Given the description of an element on the screen output the (x, y) to click on. 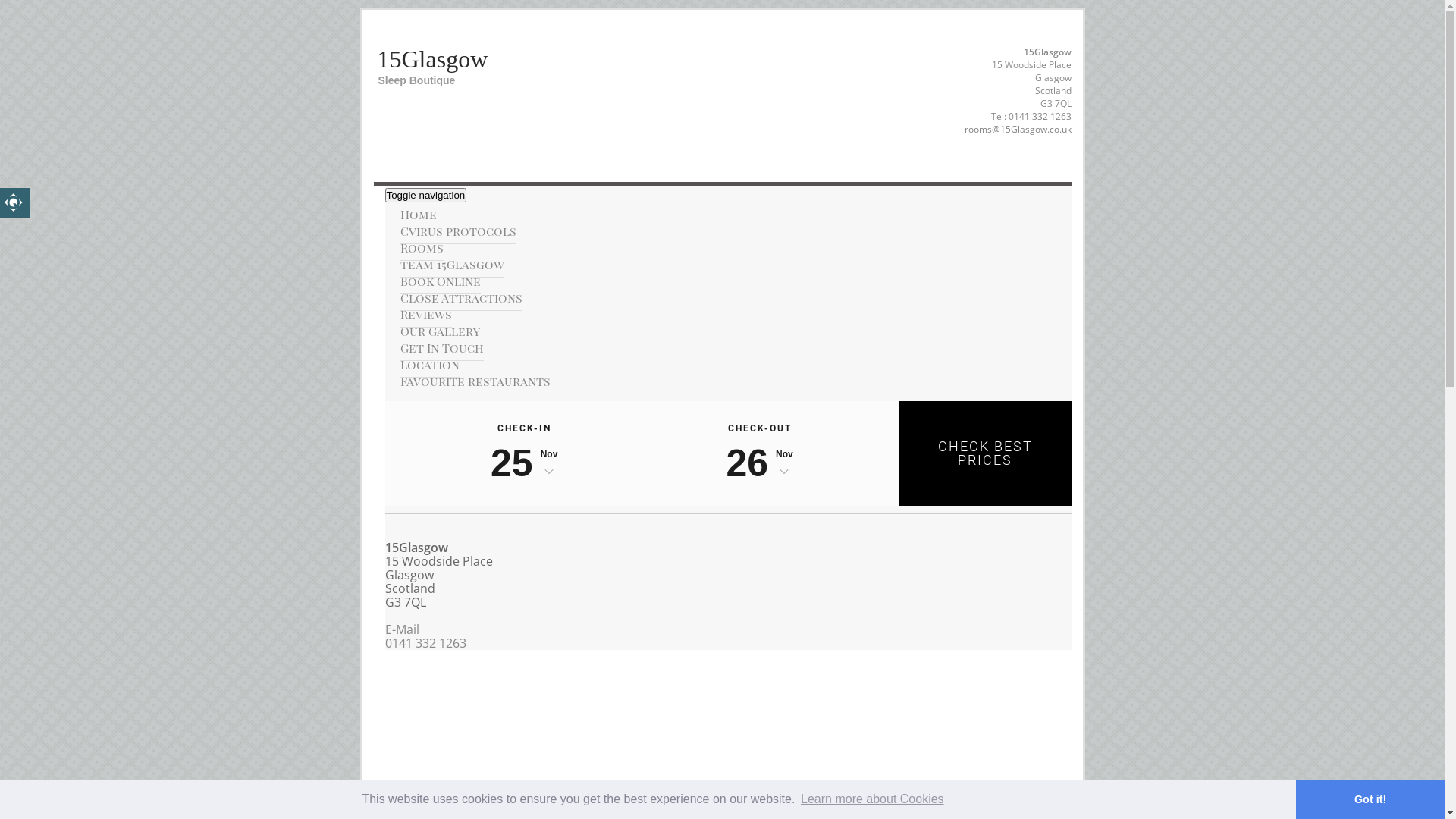
Learn more about Cookies Element type: text (872, 798)
Location Element type: text (429, 364)
CHECK BEST PRICES Element type: text (984, 453)
Reviews Element type: text (425, 314)
Book Online Element type: text (440, 281)
Toggle navigation Element type: text (426, 195)
0141 332 1263 Element type: text (1039, 115)
Favourite restaurants Element type: text (475, 381)
Rooms Element type: text (421, 247)
rooms@15Glasgow.co.uk Element type: text (1017, 128)
E-Mail Element type: text (402, 629)
Our Gallery Element type: text (440, 331)
Cvirus protocols Element type: text (458, 231)
team 15Glasgow Element type: text (452, 264)
0141 332 1263 Element type: text (425, 642)
Home Element type: text (418, 214)
Get In Touch Element type: text (441, 347)
15Glasgow Element type: text (432, 59)
Close Attractions Element type: text (461, 297)
